Given the description of an element on the screen output the (x, y) to click on. 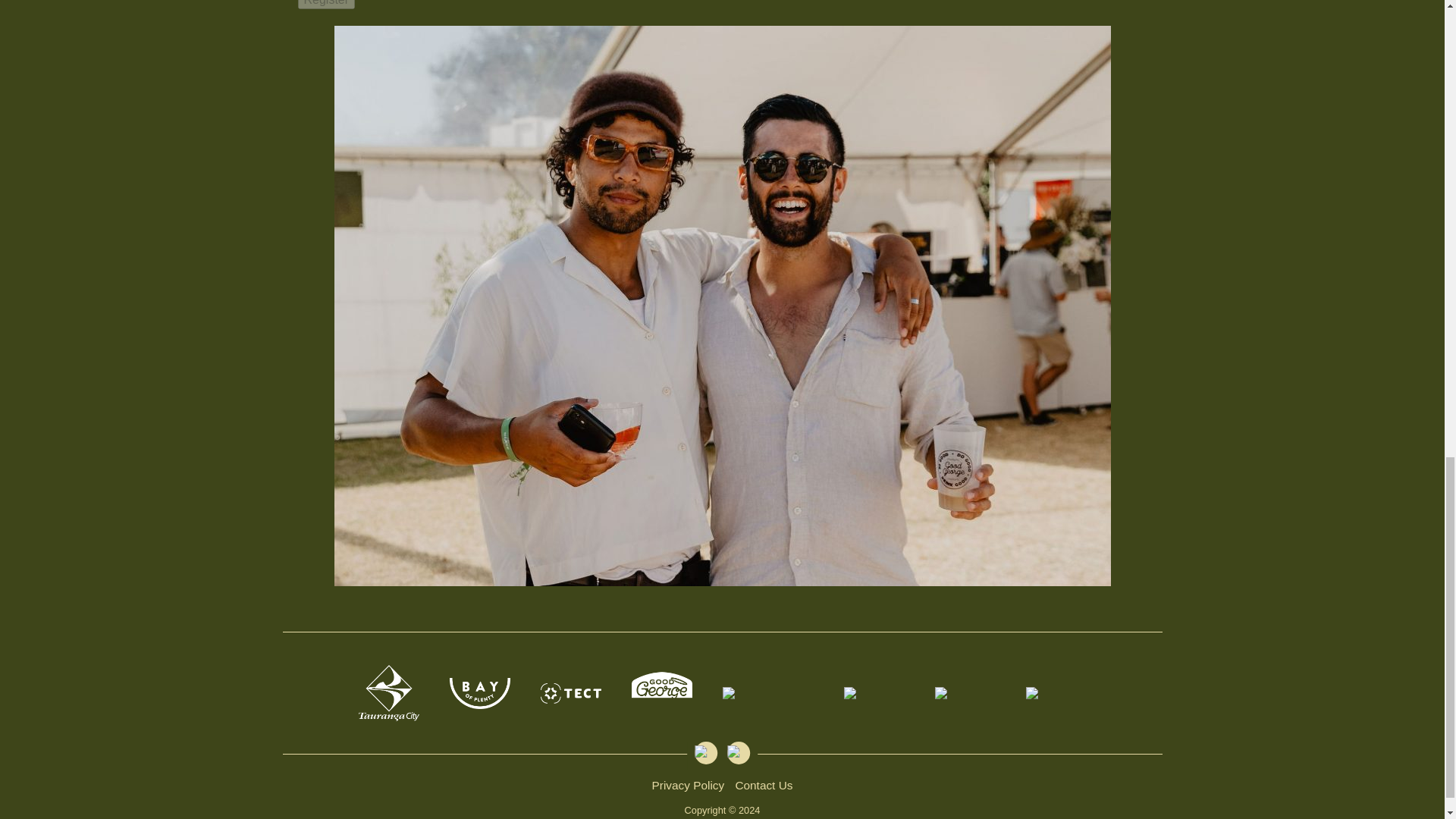
Register (326, 4)
Register (326, 4)
Privacy Policy (688, 784)
Contact Us (763, 784)
